Given the description of an element on the screen output the (x, y) to click on. 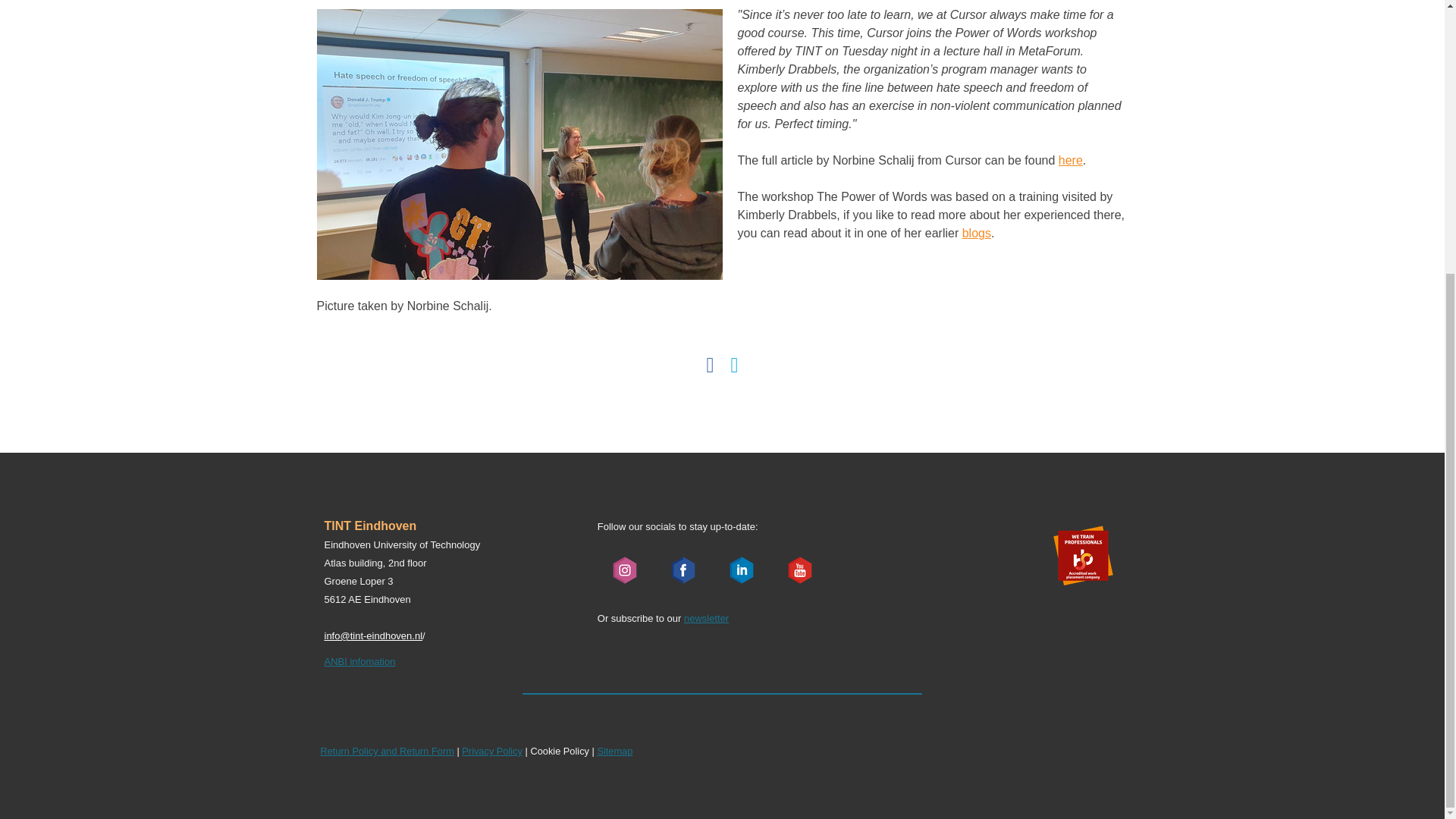
ANBI infomation (360, 660)
Facebook (709, 364)
Against Hate training (976, 232)
here (1070, 160)
ANBI info (360, 660)
blogs (976, 232)
Twitter (733, 364)
